Given the description of an element on the screen output the (x, y) to click on. 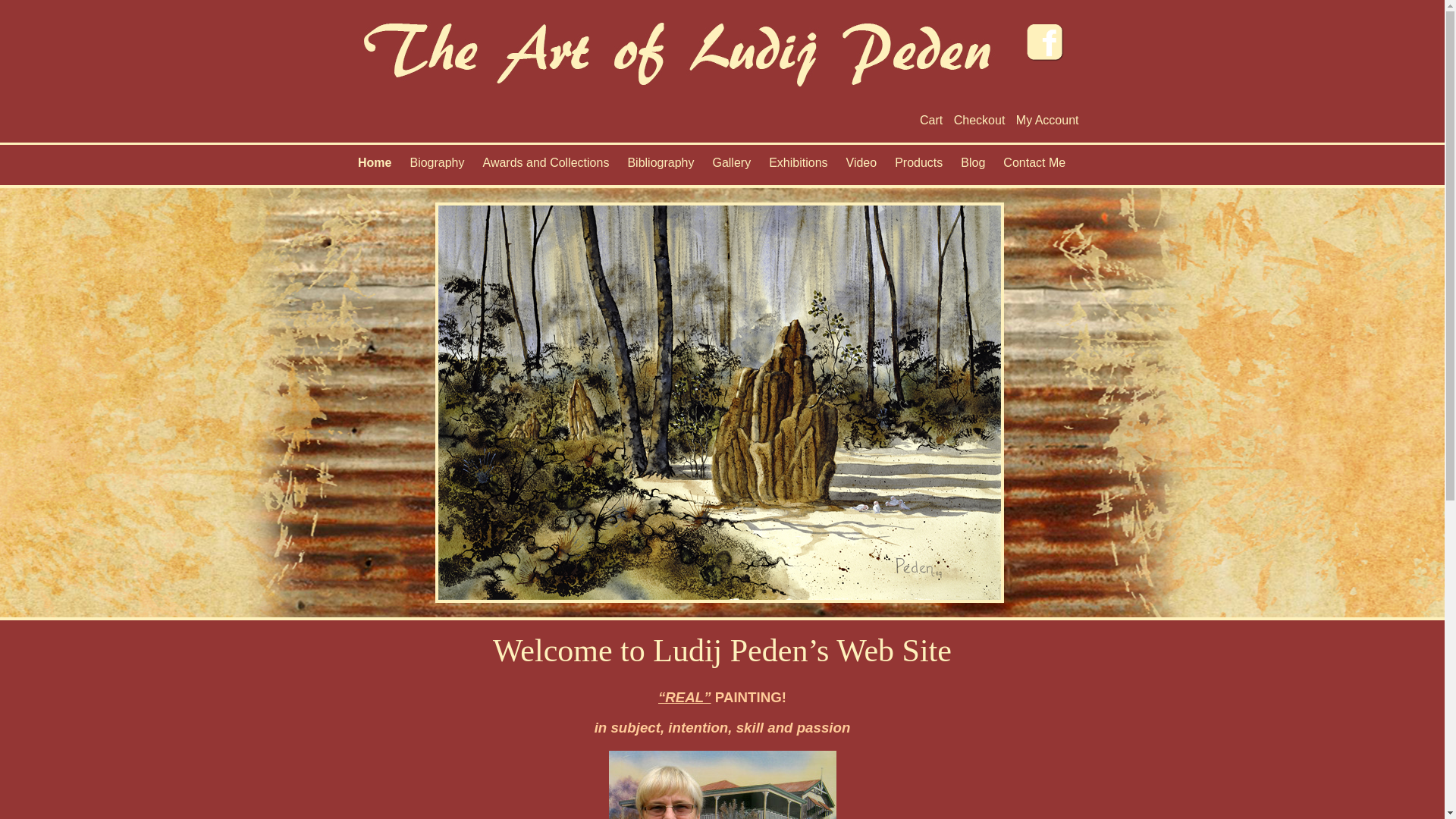
Home Element type: text (374, 165)
Cart Element type: text (930, 119)
Blog Element type: text (972, 165)
Products Element type: text (918, 165)
Contact Me Element type: text (1034, 165)
Video Element type: text (861, 165)
Awards and Collections Element type: text (545, 165)
Checkout Element type: text (979, 119)
My Account Element type: text (1047, 119)
Gallery Element type: text (731, 165)
Biography Element type: text (436, 165)
Exhibitions Element type: text (797, 165)
Bibliography Element type: text (660, 165)
